Given the description of an element on the screen output the (x, y) to click on. 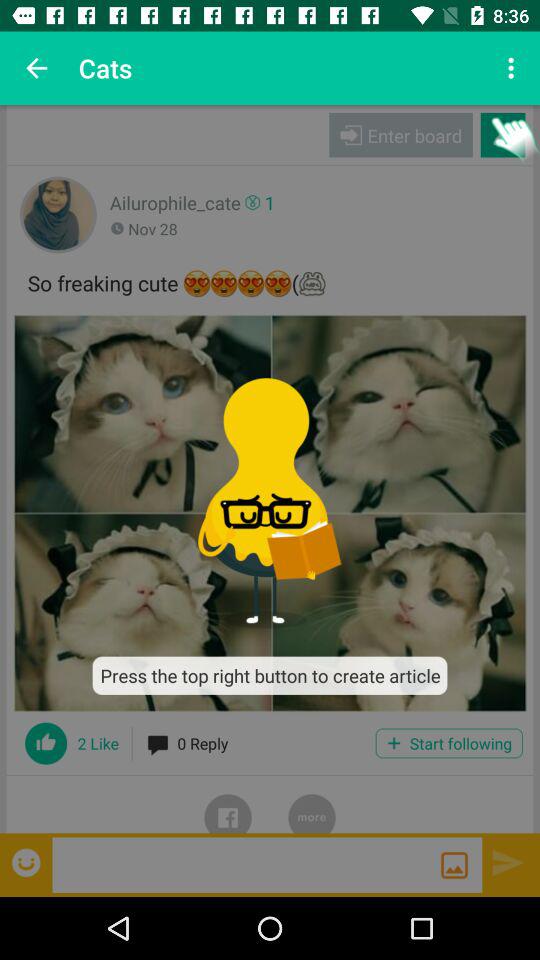
press item to the right of 0 reply (448, 743)
